Given the description of an element on the screen output the (x, y) to click on. 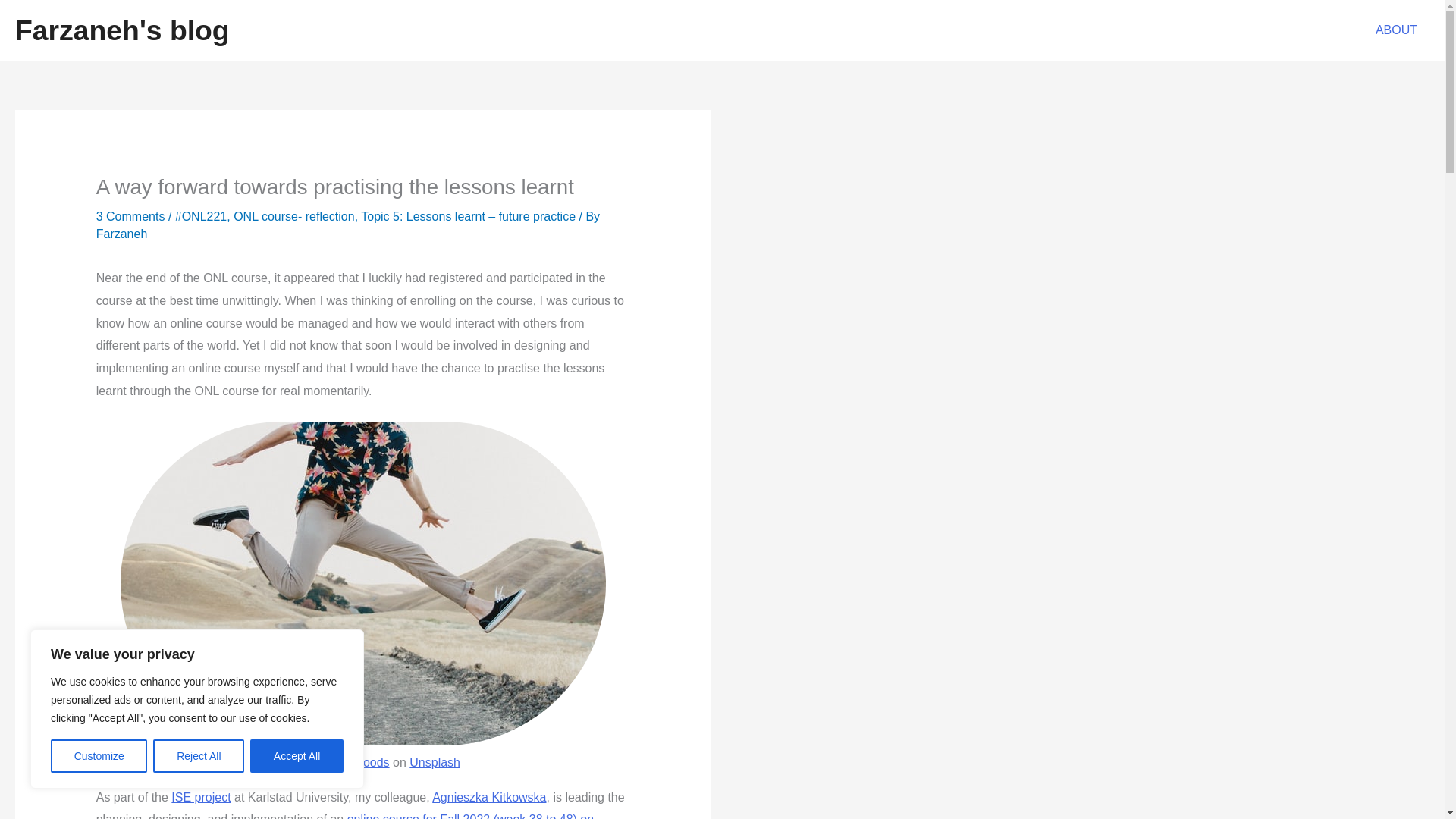
View all posts by Farzaneh (122, 233)
ONL course- reflection (292, 215)
Agnieszka Kitkowska (489, 797)
ISE project (200, 797)
Unsplash (434, 762)
ABOUT (1395, 30)
Farzaneh's blog (122, 29)
Reject All (198, 756)
Customize (98, 756)
3 Comments (130, 215)
Farzaneh (122, 233)
Accept All (296, 756)
Caleb Woods (353, 762)
